Given the description of an element on the screen output the (x, y) to click on. 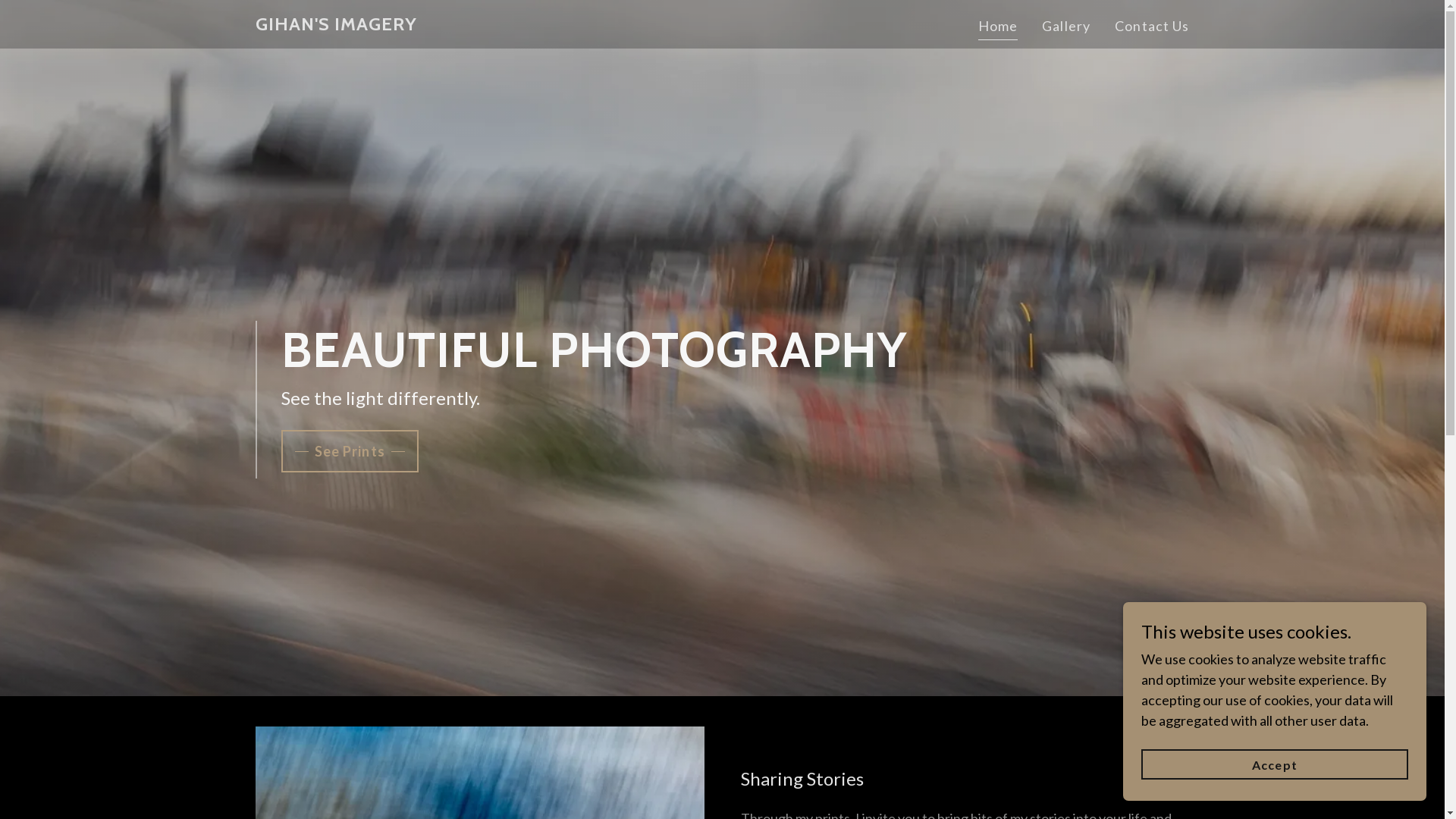
Gallery Element type: text (1066, 25)
Contact Us Element type: text (1151, 25)
GIHAN'S IMAGERY Element type: text (335, 24)
See Prints Element type: text (348, 450)
Home Element type: text (998, 27)
Accept Element type: text (1274, 764)
